Given the description of an element on the screen output the (x, y) to click on. 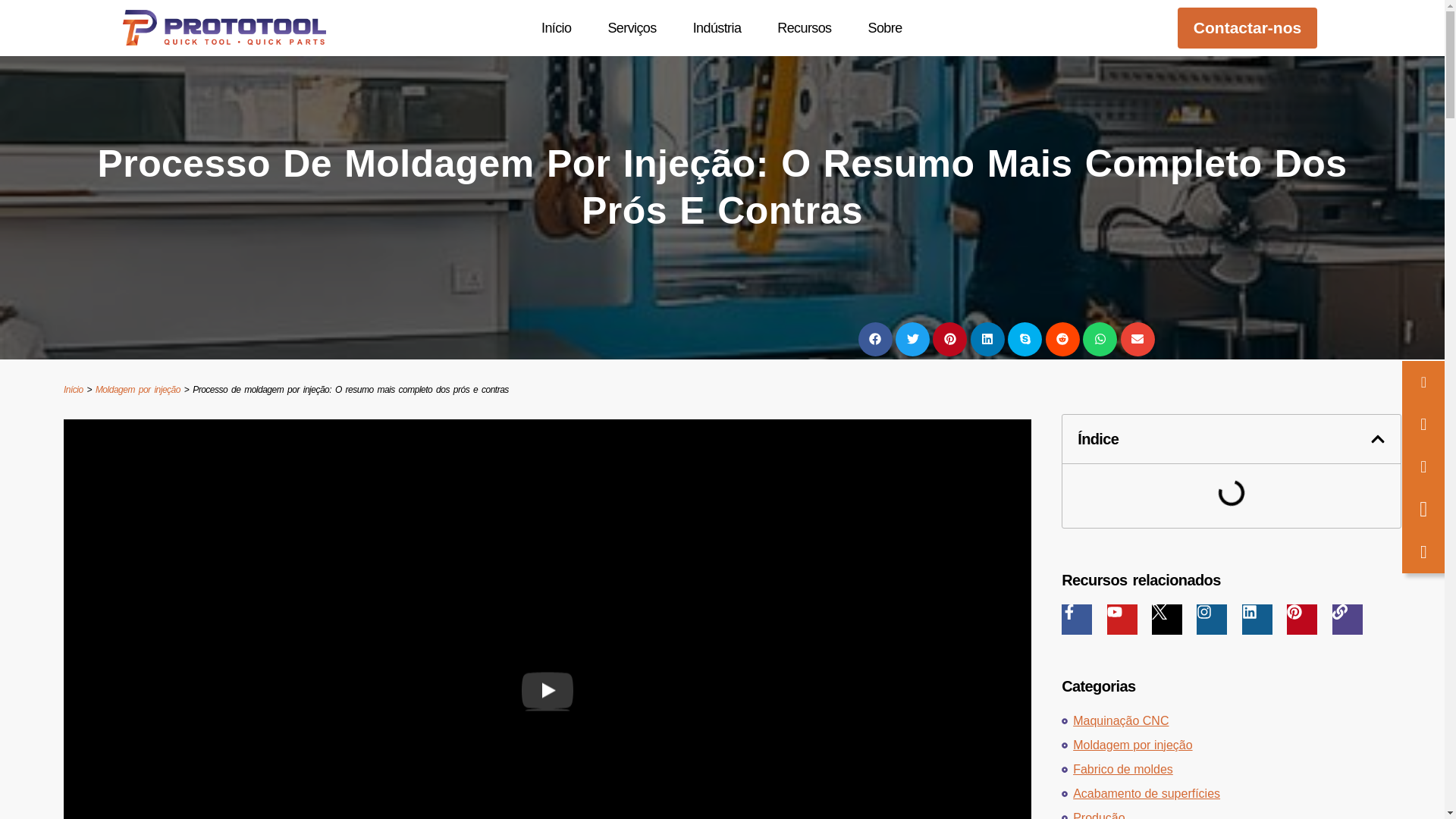
Sobre (885, 28)
Recursos (803, 28)
